Given the description of an element on the screen output the (x, y) to click on. 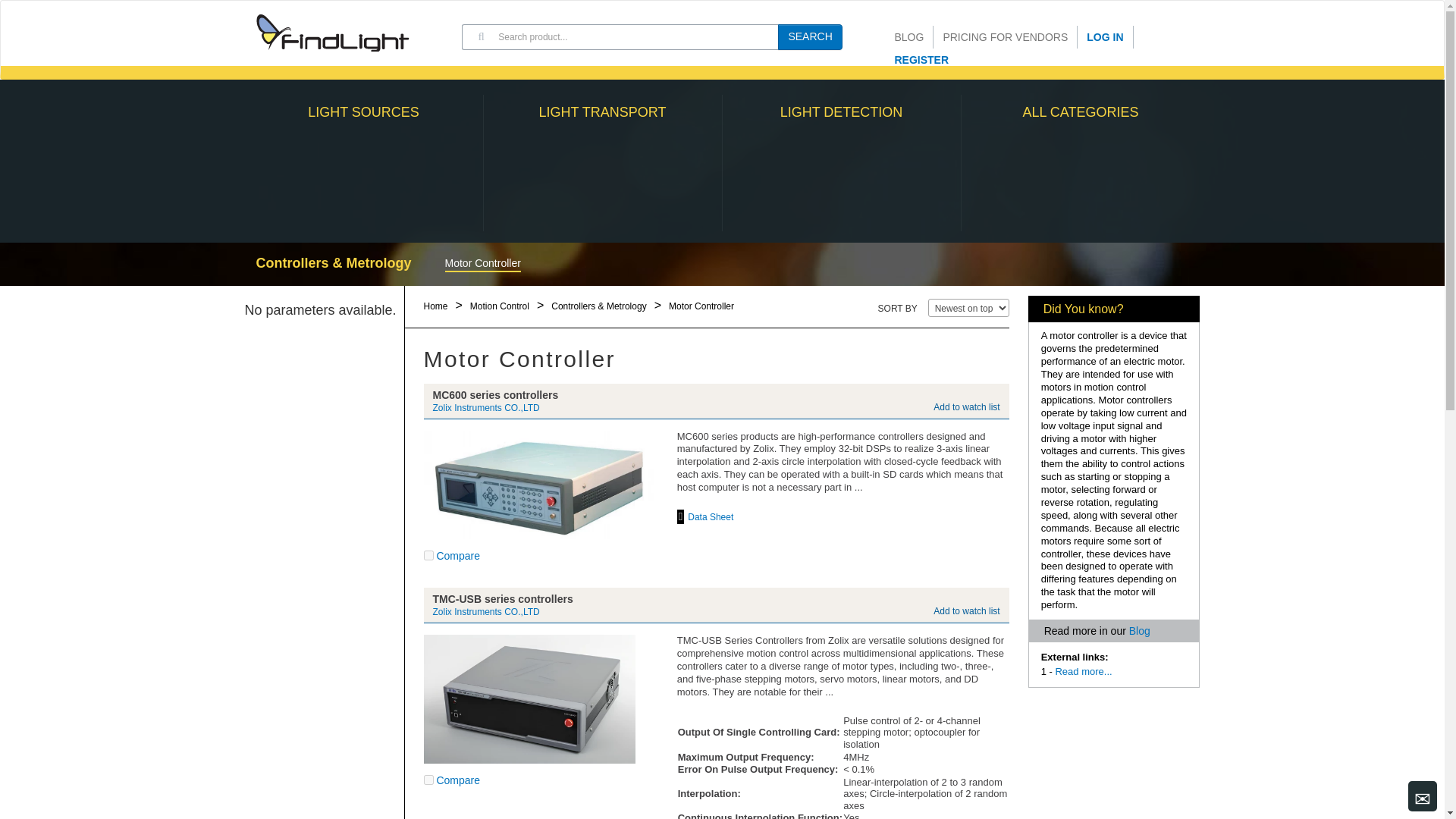
PRICING FOR VENDORS (1005, 36)
LOG IN (1104, 36)
MC600 series controllers (538, 484)
BLOG (909, 36)
LIGHT TRANSPORT (601, 162)
REGISTER (917, 59)
SEARCH (809, 36)
Contact Us (1422, 796)
TMC-USB series controllers (528, 698)
ALL CATEGORIES (1080, 162)
